Given the description of an element on the screen output the (x, y) to click on. 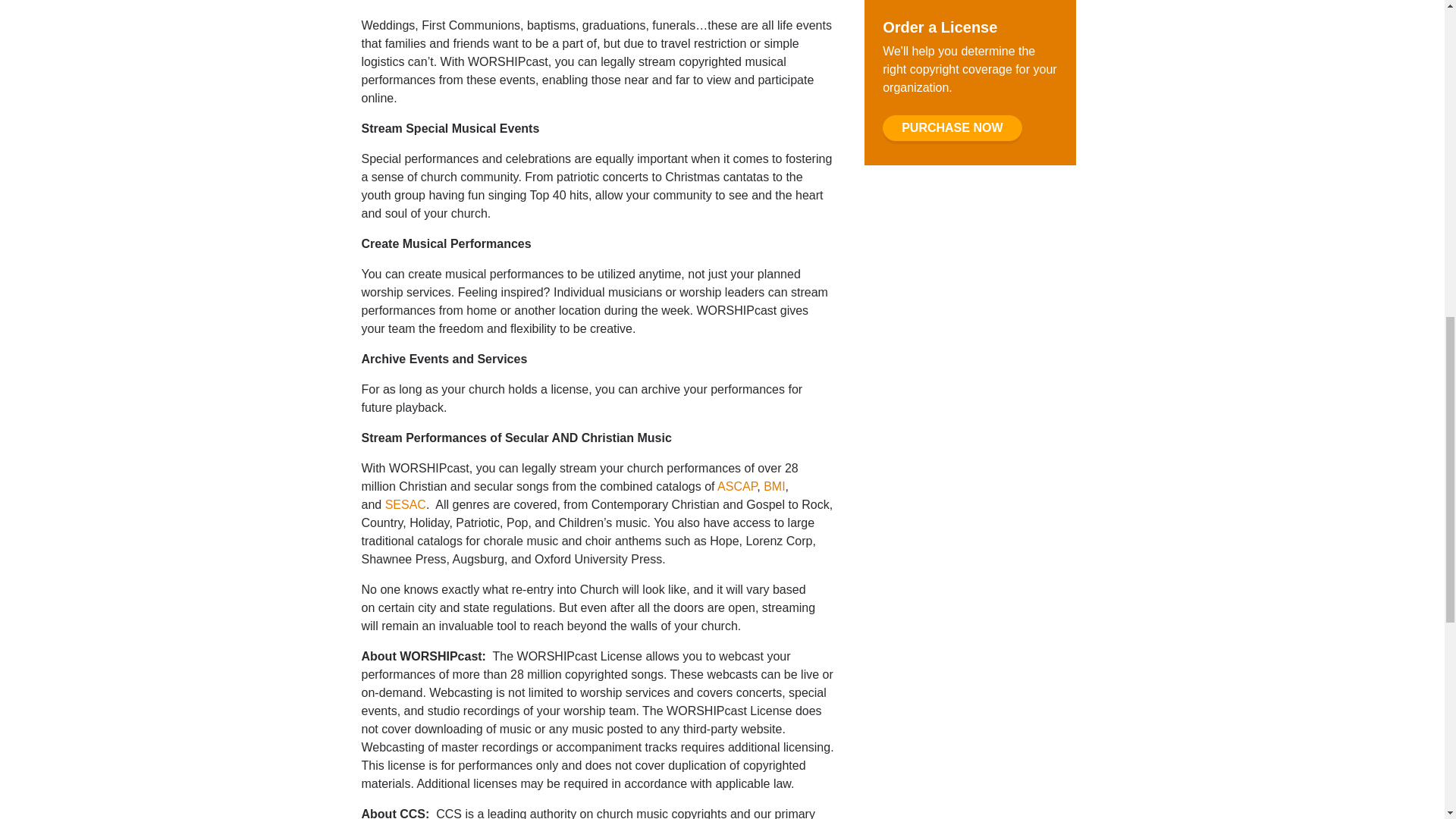
SESAC (405, 504)
ASCAP (737, 486)
BMI (773, 486)
